Given the description of an element on the screen output the (x, y) to click on. 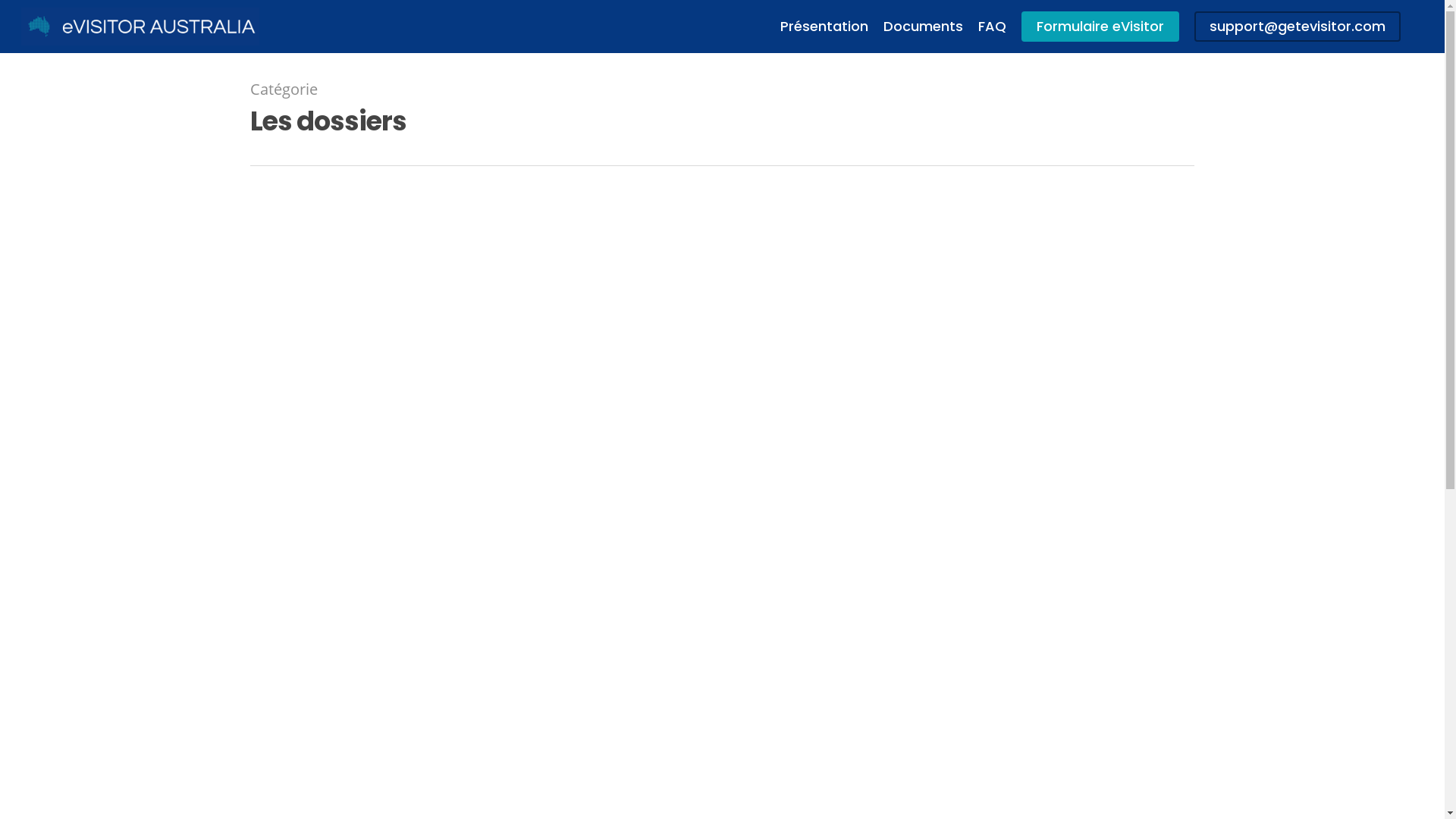
support@getevisitor.com Element type: text (1297, 26)
Documents Element type: text (923, 26)
Formulaire eVisitor Element type: text (1100, 26)
FAQ Element type: text (992, 26)
